Given the description of an element on the screen output the (x, y) to click on. 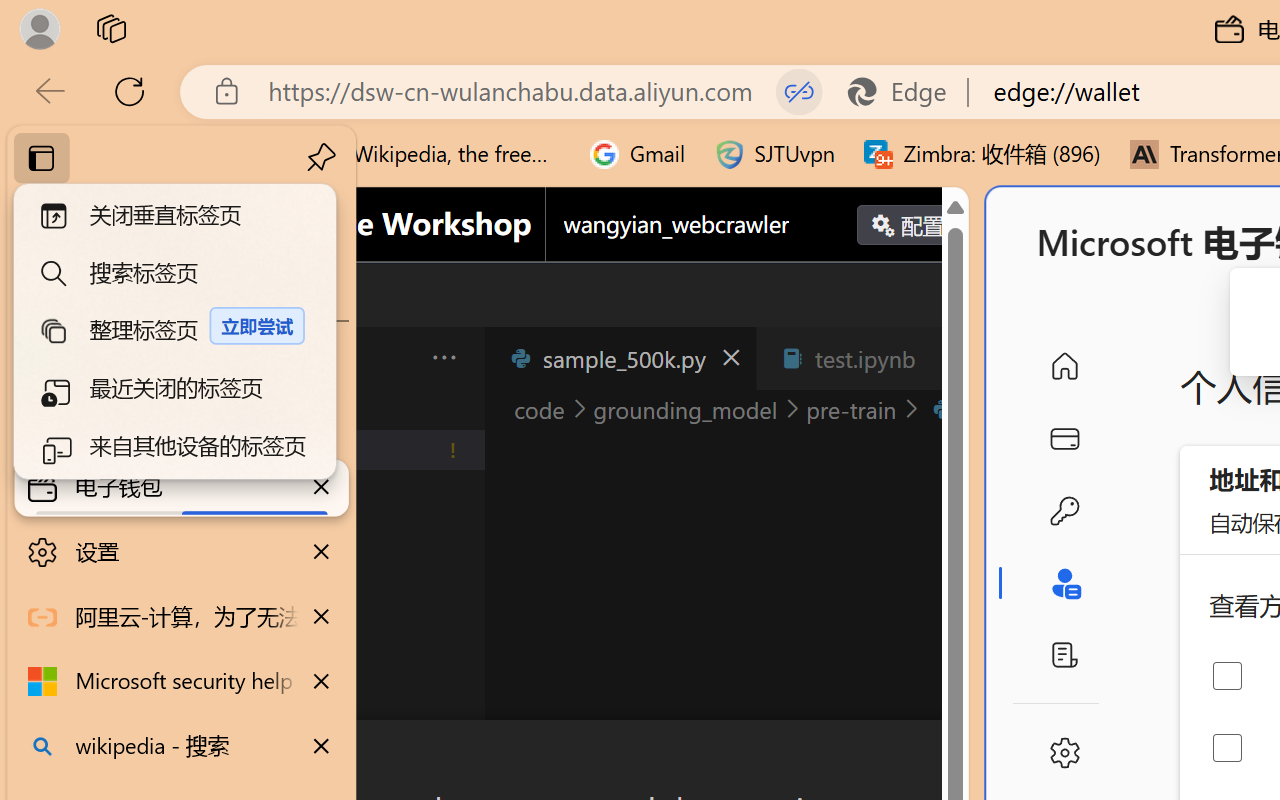
wangyian_dsw - DSW (181, 357)
Class: menubar compact overflow-menu-only (135, 358)
Explorer (Ctrl+Shift+E) (135, 432)
Explorer actions (391, 358)
test.ipynb (864, 358)
